Given the description of an element on the screen output the (x, y) to click on. 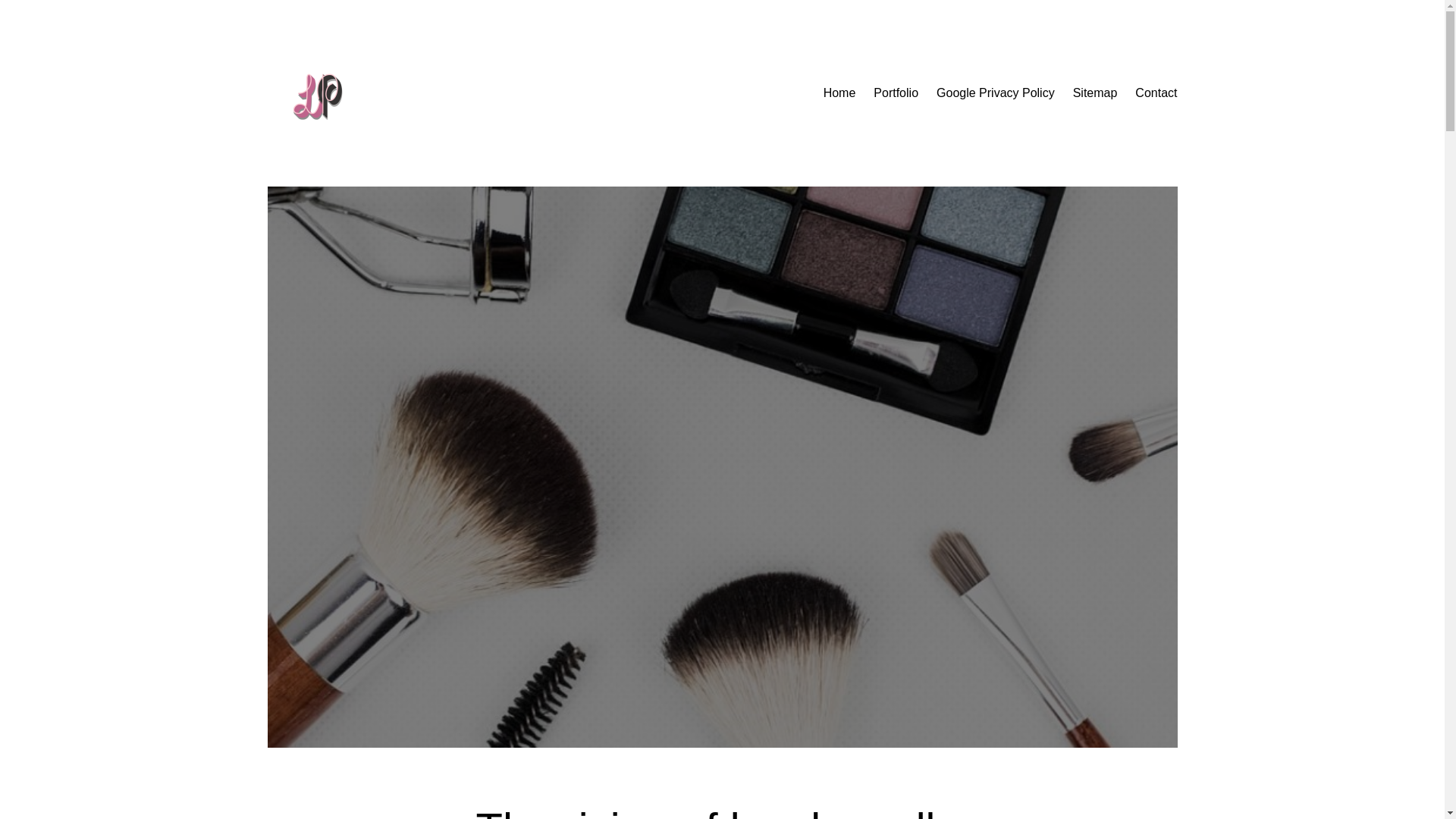
Contact (1155, 93)
Home (840, 93)
Portfolio (895, 93)
Sitemap (1095, 93)
Google Privacy Policy (995, 93)
